Given the description of an element on the screen output the (x, y) to click on. 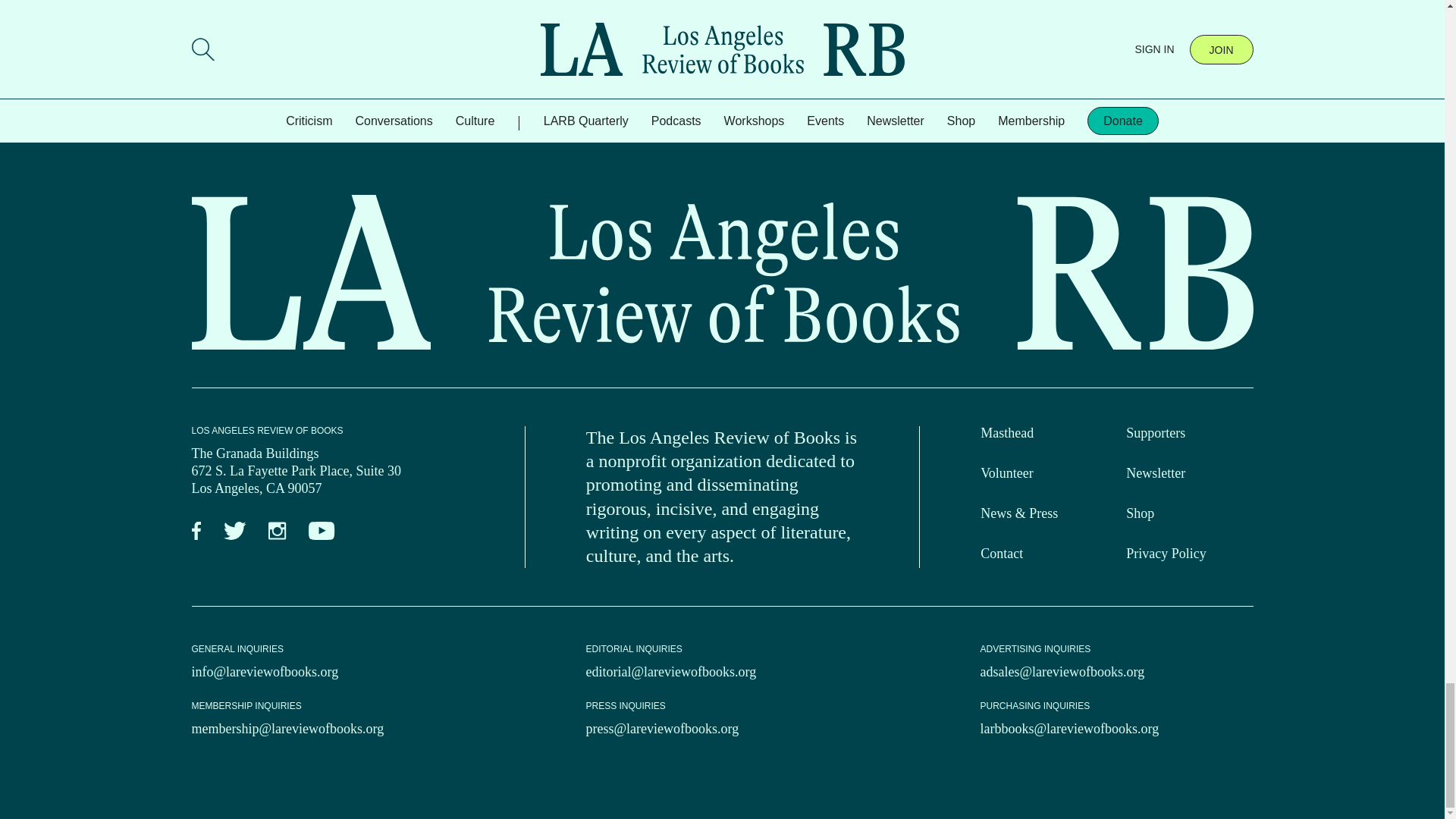
Facebook (195, 531)
DONATE (321, 26)
Instagram (276, 531)
YouTube (321, 531)
Twitter (234, 531)
